Given the description of an element on the screen output the (x, y) to click on. 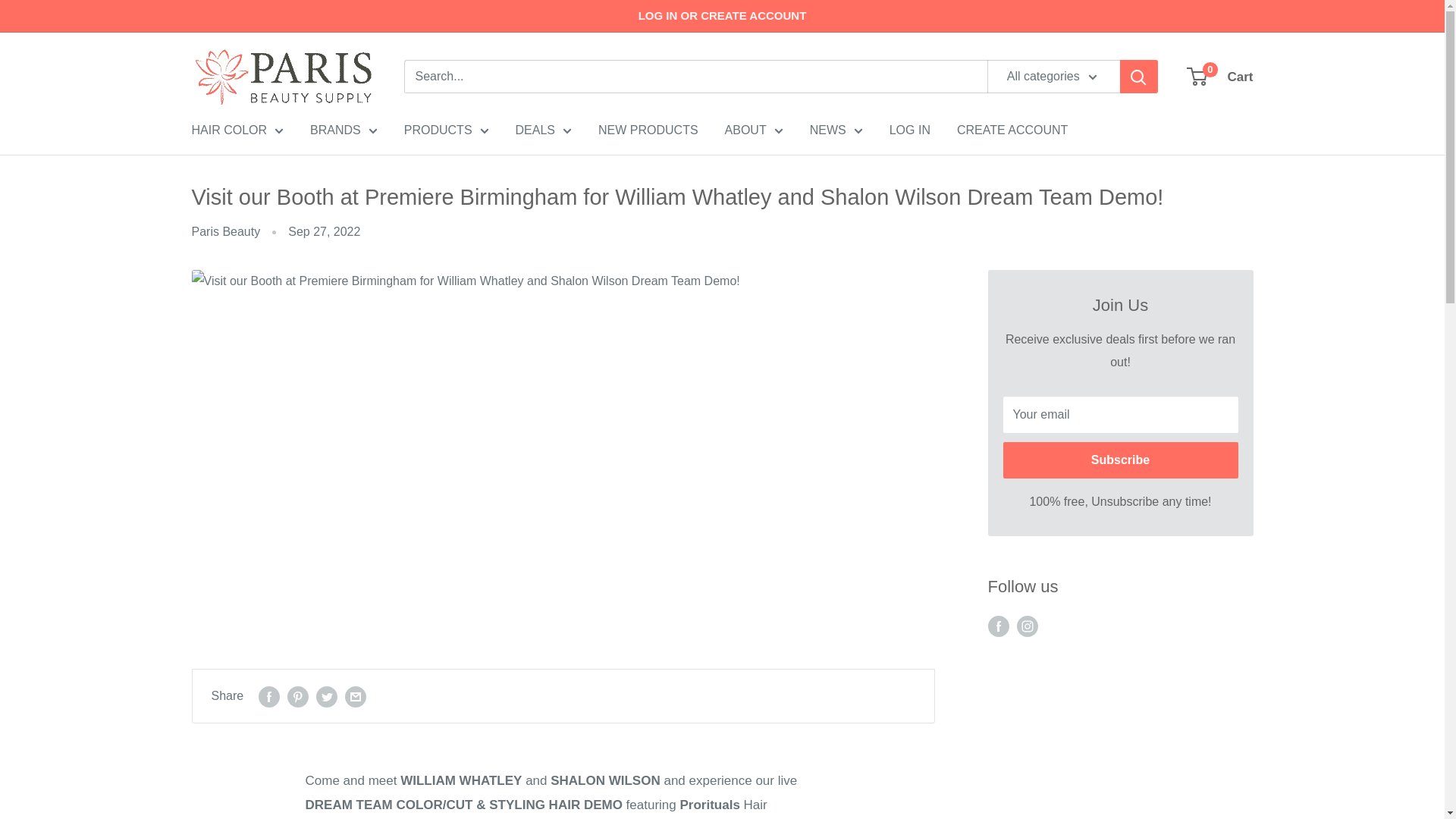
LOG IN OR CREATE ACCOUNT (722, 15)
